Given the description of an element on the screen output the (x, y) to click on. 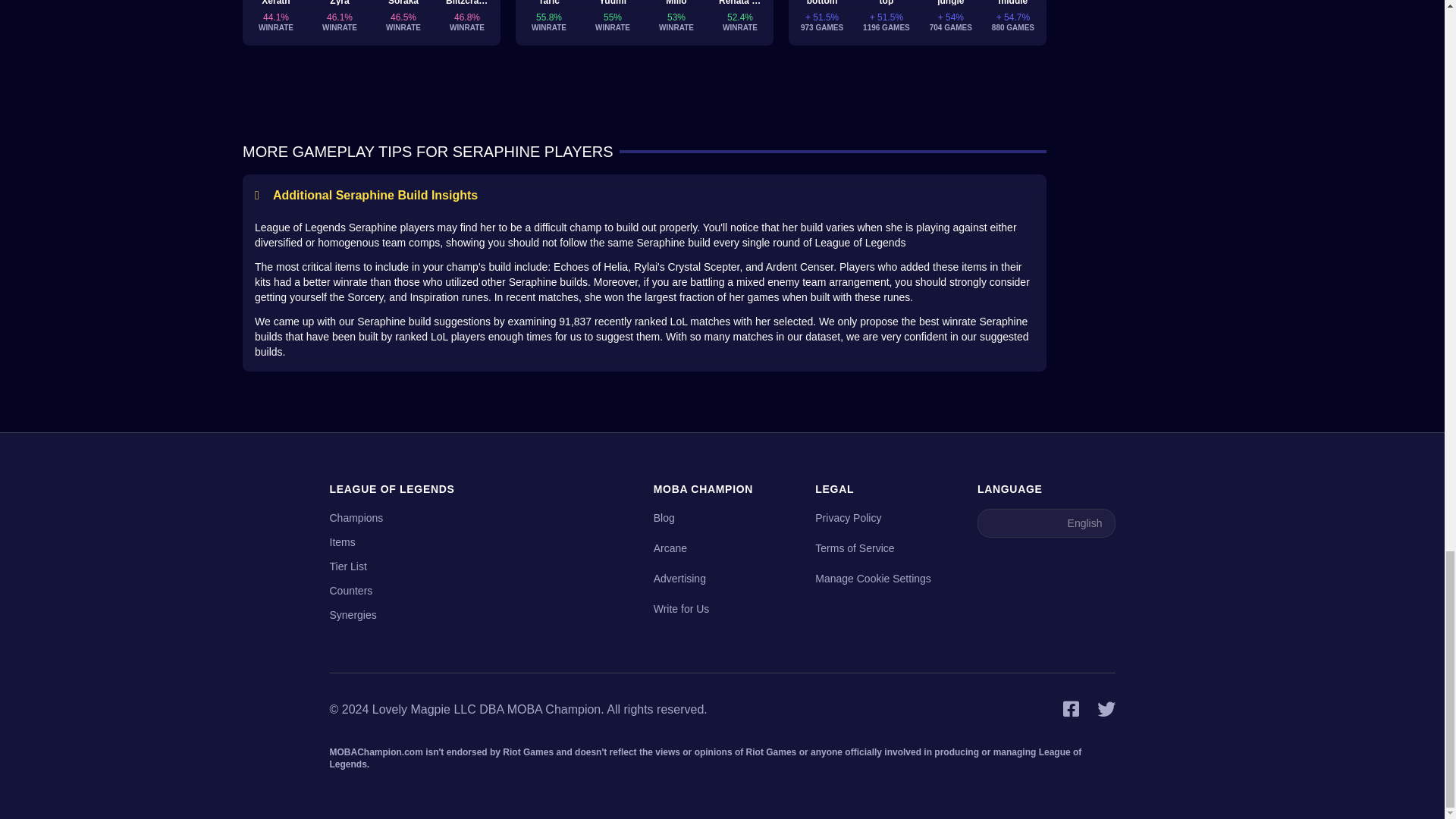
Counters (350, 590)
Items (342, 541)
Champions (355, 517)
Tier List (347, 566)
